Given the description of an element on the screen output the (x, y) to click on. 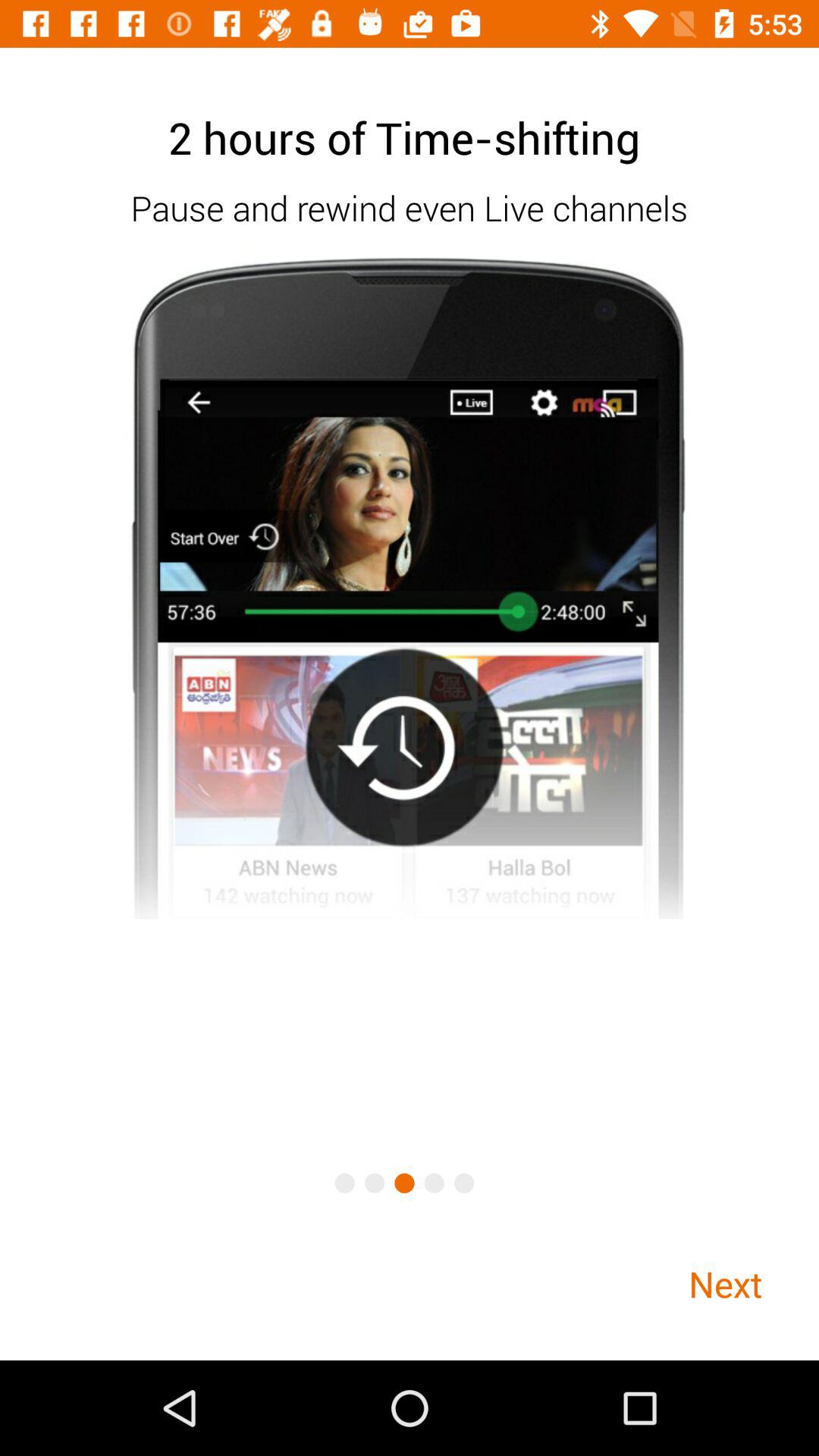
click the next (725, 1283)
